Given the description of an element on the screen output the (x, y) to click on. 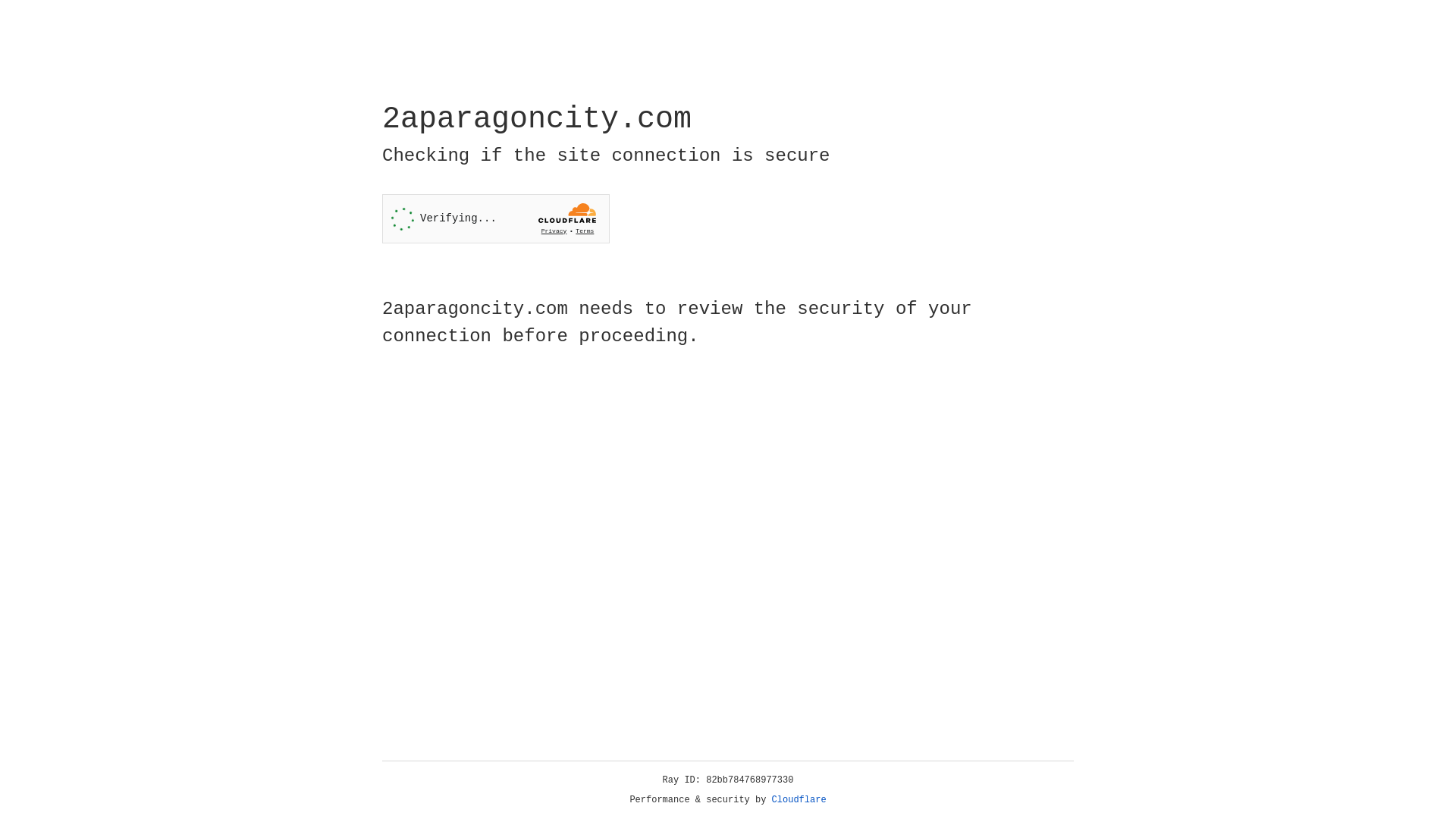
Widget containing a Cloudflare security challenge Element type: hover (495, 218)
Cloudflare Element type: text (798, 799)
